Given the description of an element on the screen output the (x, y) to click on. 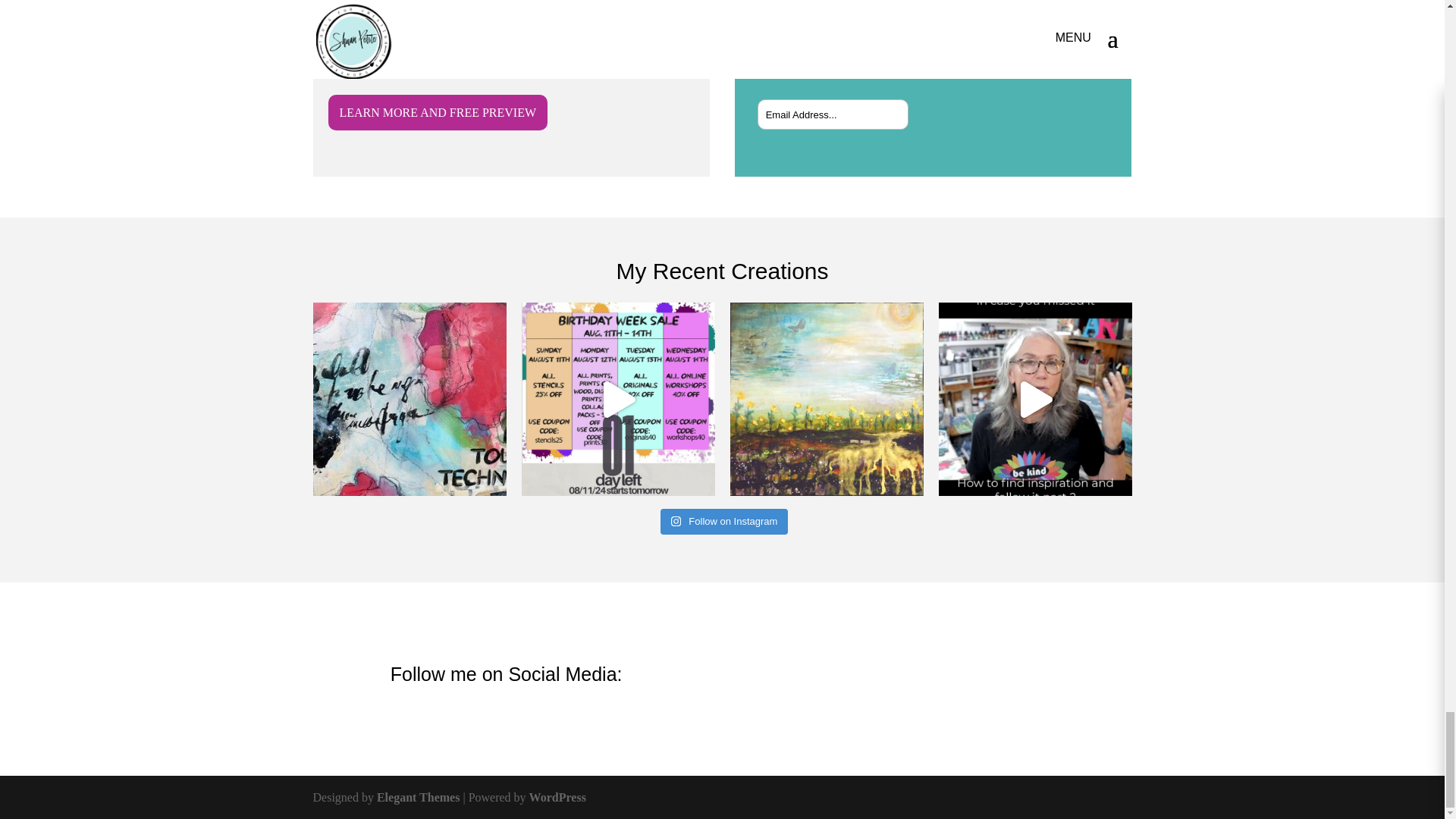
WordPress (557, 797)
youtube (1082, 678)
Premium WordPress Themes (418, 797)
Elegant Themes (418, 797)
Submit (880, 107)
icon-social-large-instagram (938, 676)
Follow on Instagram (725, 521)
LEARN MORE AND FREE PREVIEW (437, 112)
Submit (880, 107)
Email (1038, 38)
